Given the description of an element on the screen output the (x, y) to click on. 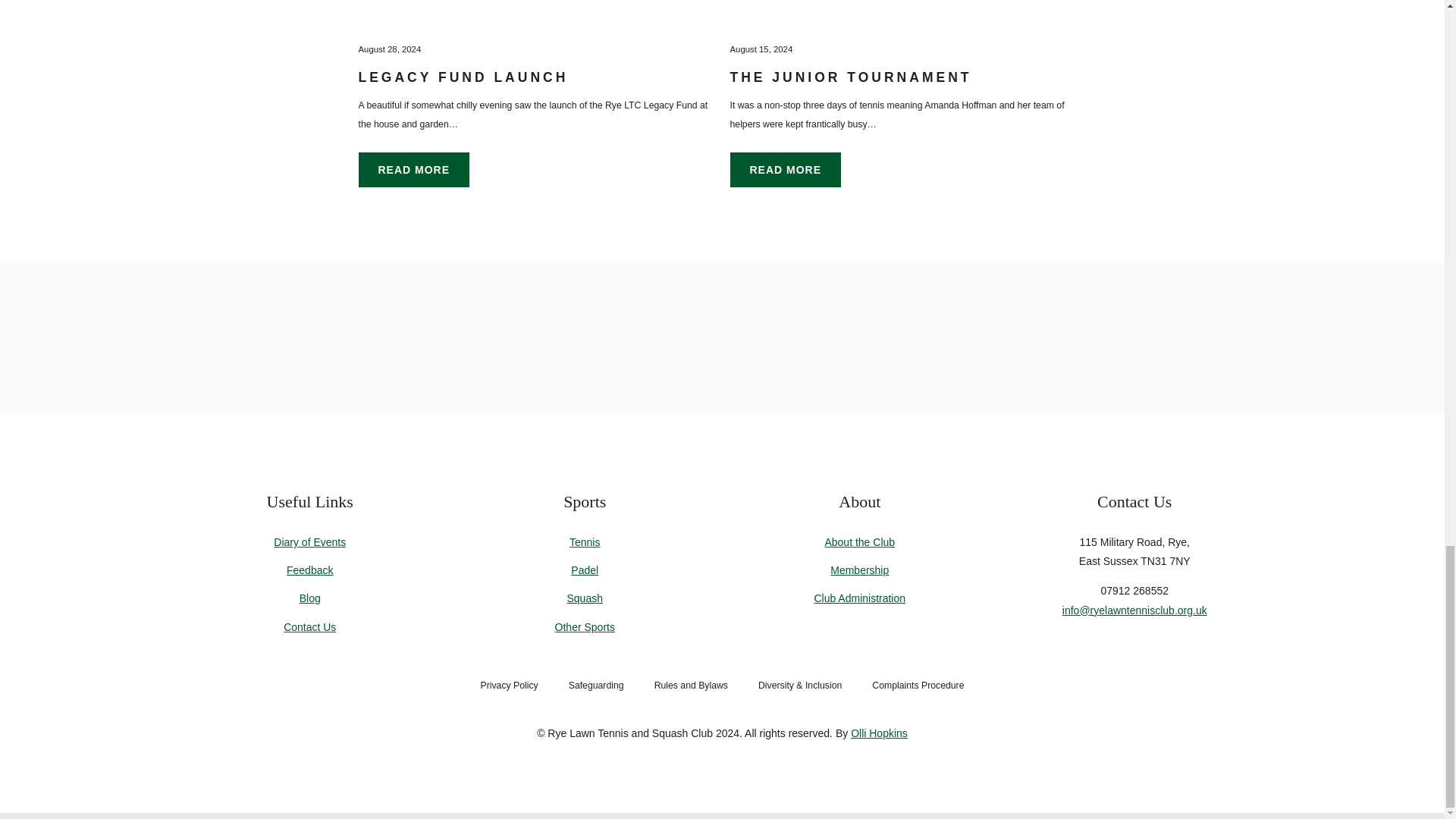
LEGACY FUND LAUNCH (462, 76)
August 28, 2024 (389, 49)
READ MORE (413, 169)
